Given the description of an element on the screen output the (x, y) to click on. 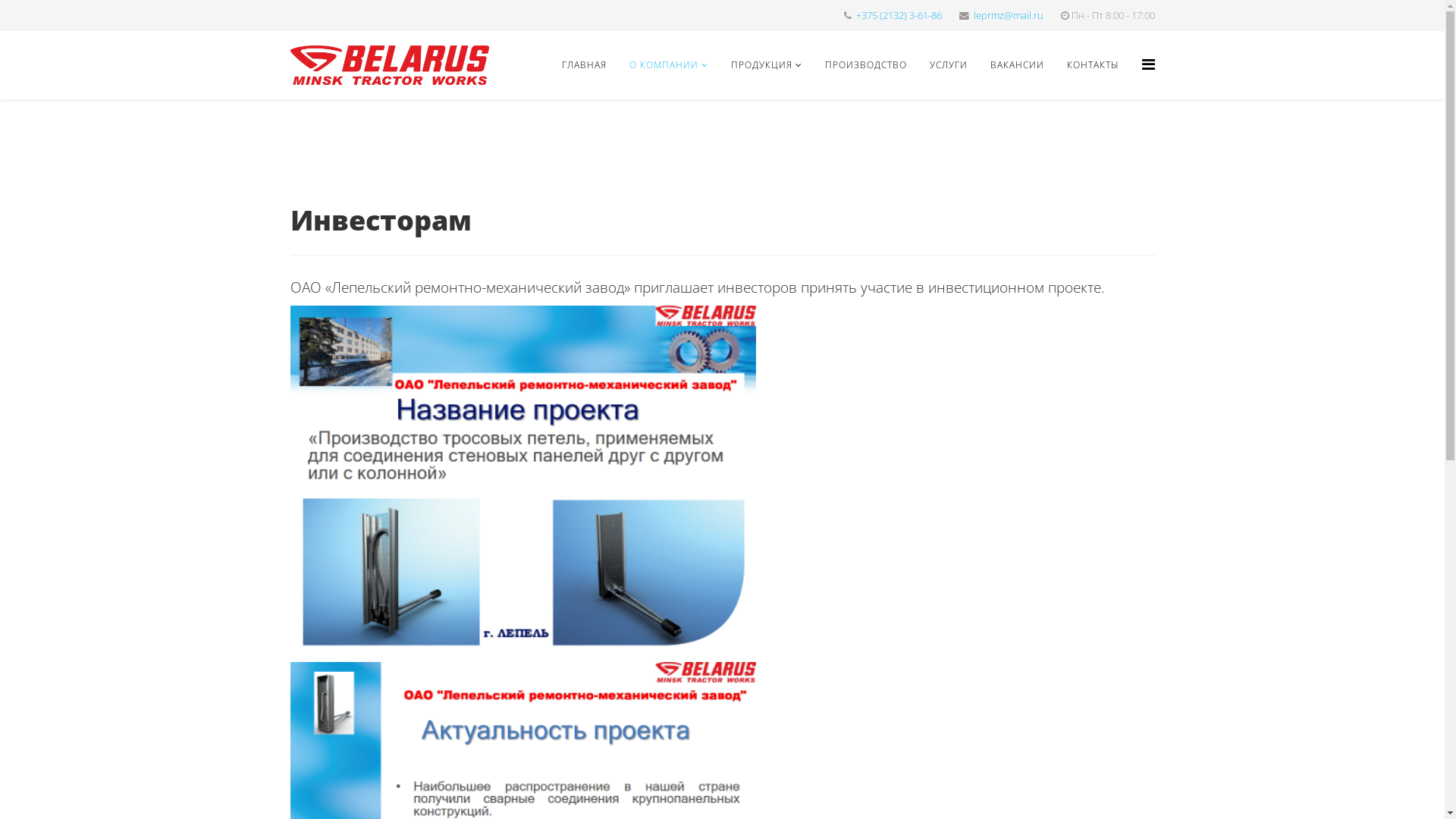
leprmz@mail.ru Element type: text (1008, 15)
Menu Element type: hover (1148, 64)
+375 (2132) 3-61-86 Element type: text (898, 15)
